Given the description of an element on the screen output the (x, y) to click on. 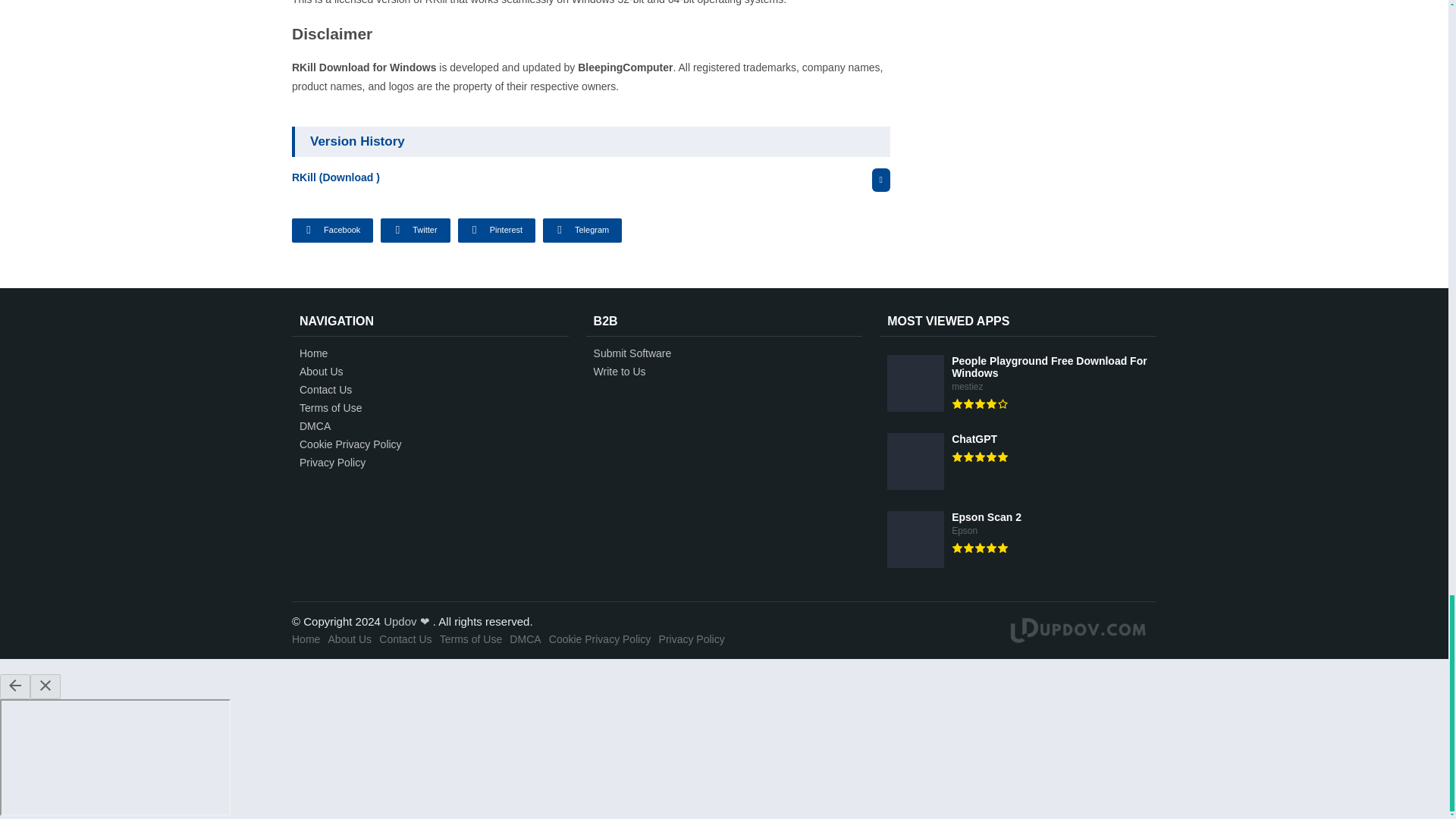
Pinterest (496, 230)
Twitter (414, 230)
Facebook (332, 230)
